Given the description of an element on the screen output the (x, y) to click on. 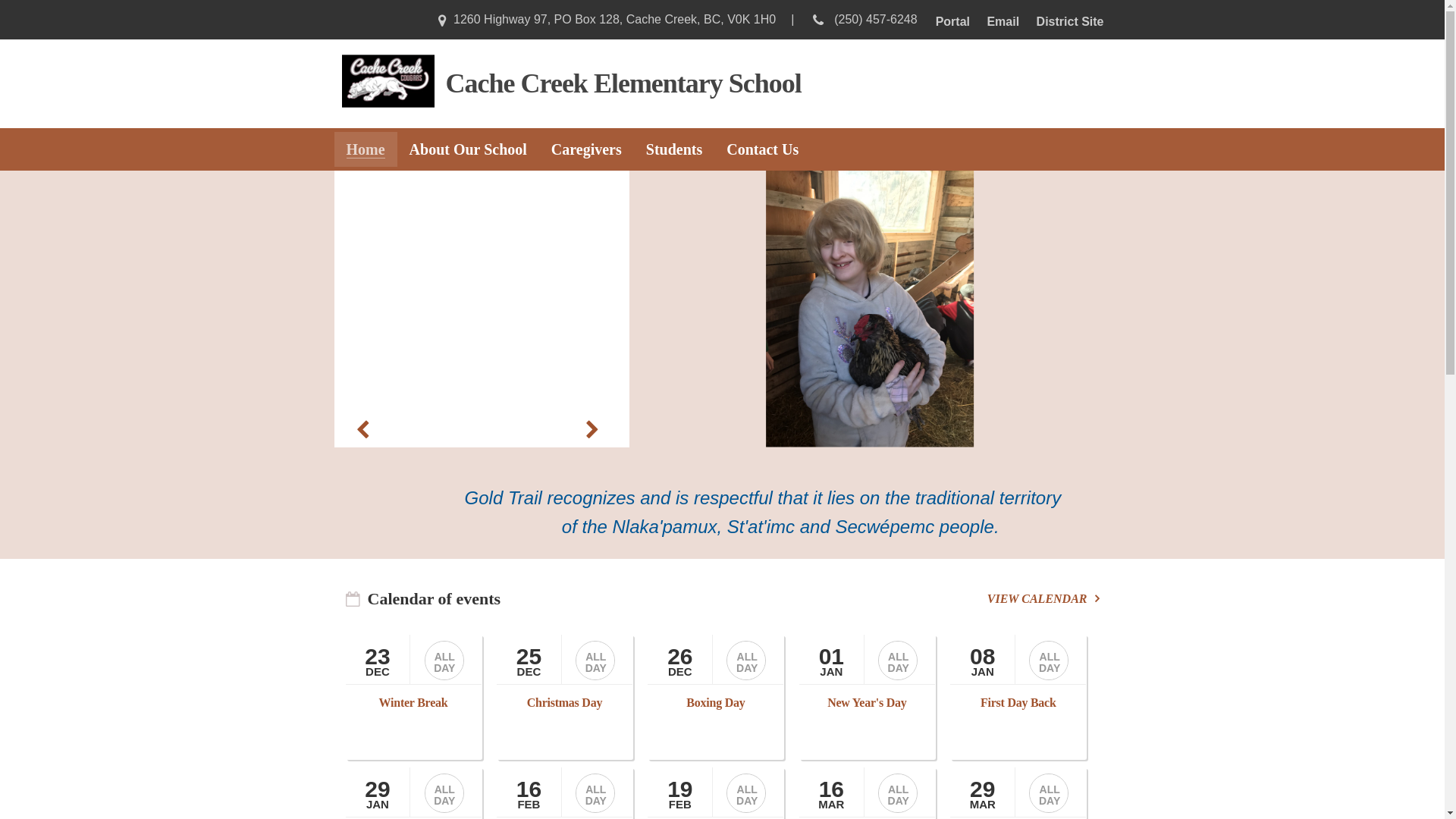
01
JAN
  ALL DAY
New Year's Day Element type: text (867, 696)
25
DEC
  ALL DAY
Christmas Day Element type: text (564, 696)
District Site Element type: text (1070, 21)
VIEW CALENDAR Element type: text (1043, 598)
Email Element type: text (1002, 21)
26
DEC
  ALL DAY
Boxing Day Element type: text (715, 696)
Back to Home Element type: hover (387, 83)
Calendar of events Element type: text (433, 598)
08
JAN
  ALL DAY
First Day Back Element type: text (1018, 696)
Students Element type: text (673, 148)
Contact Us Element type: text (762, 148)
Previous Element type: text (362, 424)
(250) 457-6248 Element type: text (874, 18)
Caregivers Element type: text (586, 148)
About Our School Element type: text (468, 148)
Next Element type: text (592, 424)
1260 Highway 97, PO Box 128, Cache Creek, BC, V0K 1H0| Element type: text (611, 18)
Portal Element type: text (952, 21)
23
DEC
  ALL DAY
Winter Break Element type: text (413, 696)
Home Element type: text (364, 148)
